Given the description of an element on the screen output the (x, y) to click on. 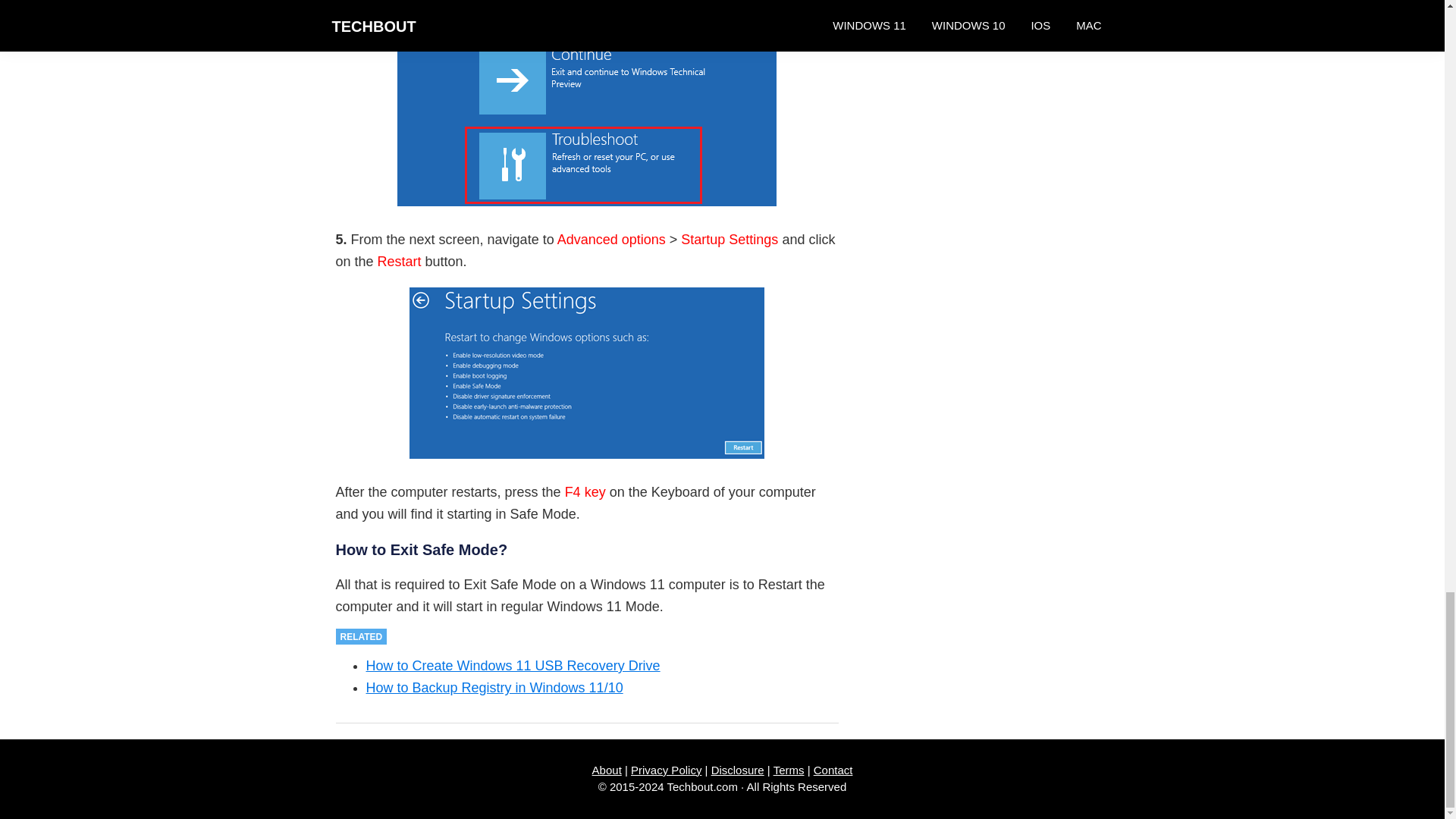
Terms (789, 769)
Windows Startup Settings Screen (586, 372)
About (606, 769)
Privacy Policy (665, 769)
Troubleshoot Option on Windows Startup Screen (586, 103)
How to Create Windows 11 USB Recovery Drive (512, 665)
Disclosure (737, 769)
Contact (833, 769)
